Given the description of an element on the screen output the (x, y) to click on. 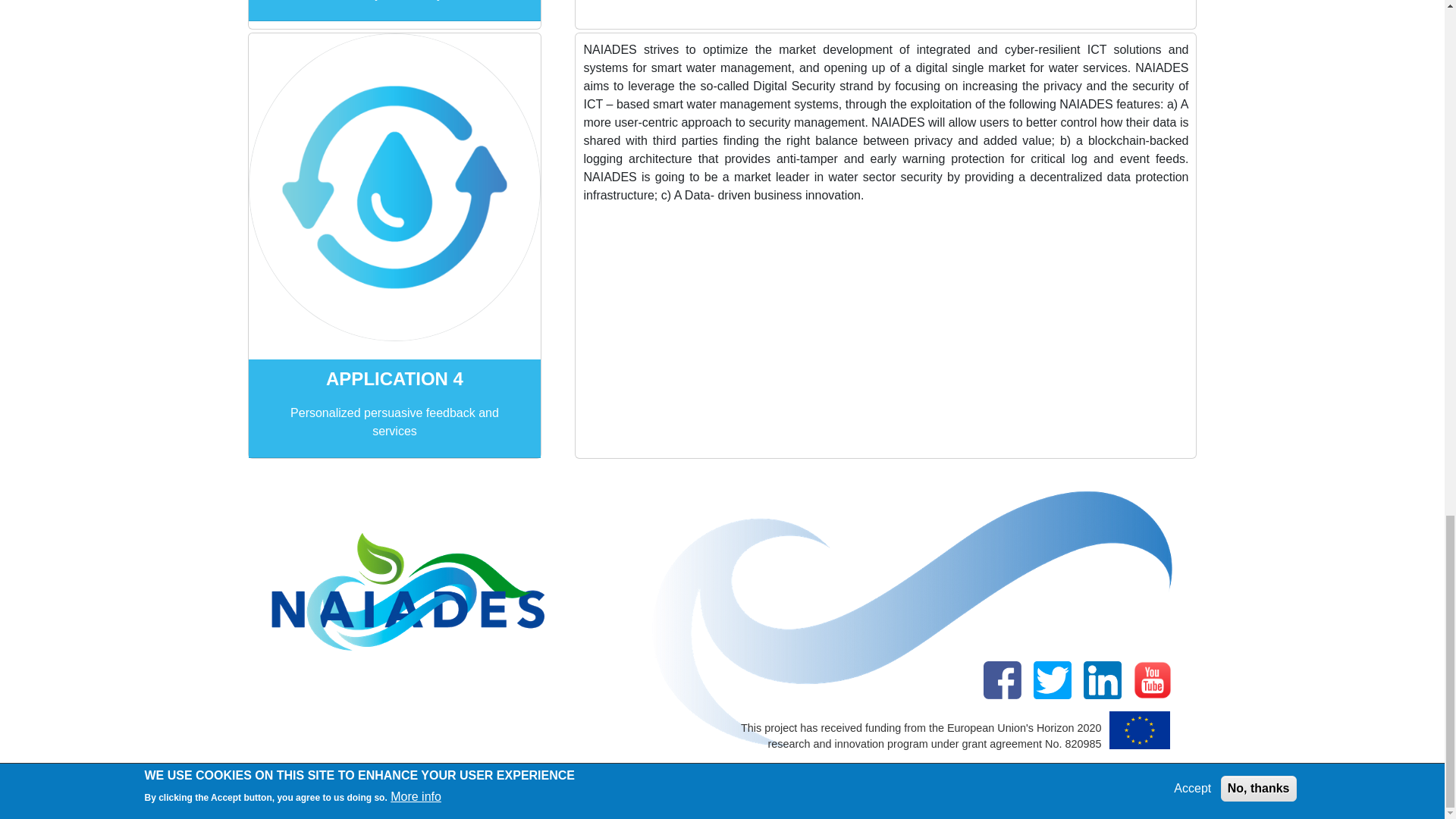
Contact us (783, 784)
Consortium (708, 784)
Cookies Policy (516, 784)
About the project (616, 784)
Privacy Policy and Data Protection (367, 784)
